Given the description of an element on the screen output the (x, y) to click on. 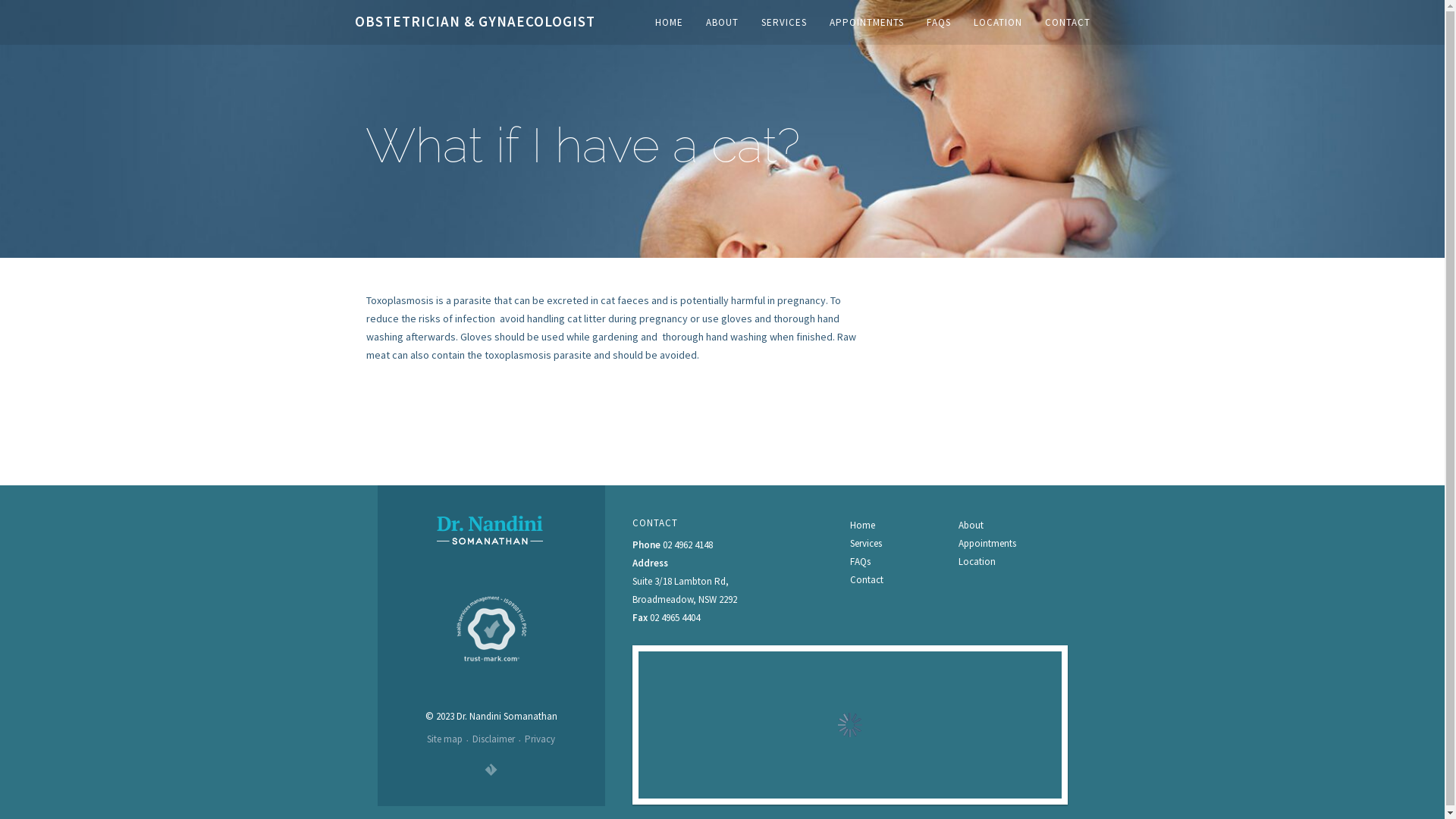
CONTACT Element type: text (1067, 25)
ABOUT Element type: text (721, 25)
APPOINTMENTS Element type: text (866, 25)
Contact Element type: text (866, 579)
HOME Element type: text (669, 25)
Broadmeadow Day Surgery Logo Element type: hover (491, 532)
Site map Element type: text (444, 738)
Services Element type: text (865, 542)
FAQs Element type: text (860, 561)
Disclaimer Element type: text (493, 738)
SERVICES Element type: text (783, 25)
FAQS Element type: text (938, 25)
About Element type: text (970, 524)
Home Element type: text (862, 524)
LOCATION Element type: text (997, 25)
Trust Mark Logo Element type: hover (491, 628)
Appointments Element type: text (987, 542)
Privacy Element type: text (539, 738)
OBSTETRICIAN & GYNAECOLOGIST Element type: text (483, 30)
Location Element type: text (976, 561)
